Given the description of an element on the screen output the (x, y) to click on. 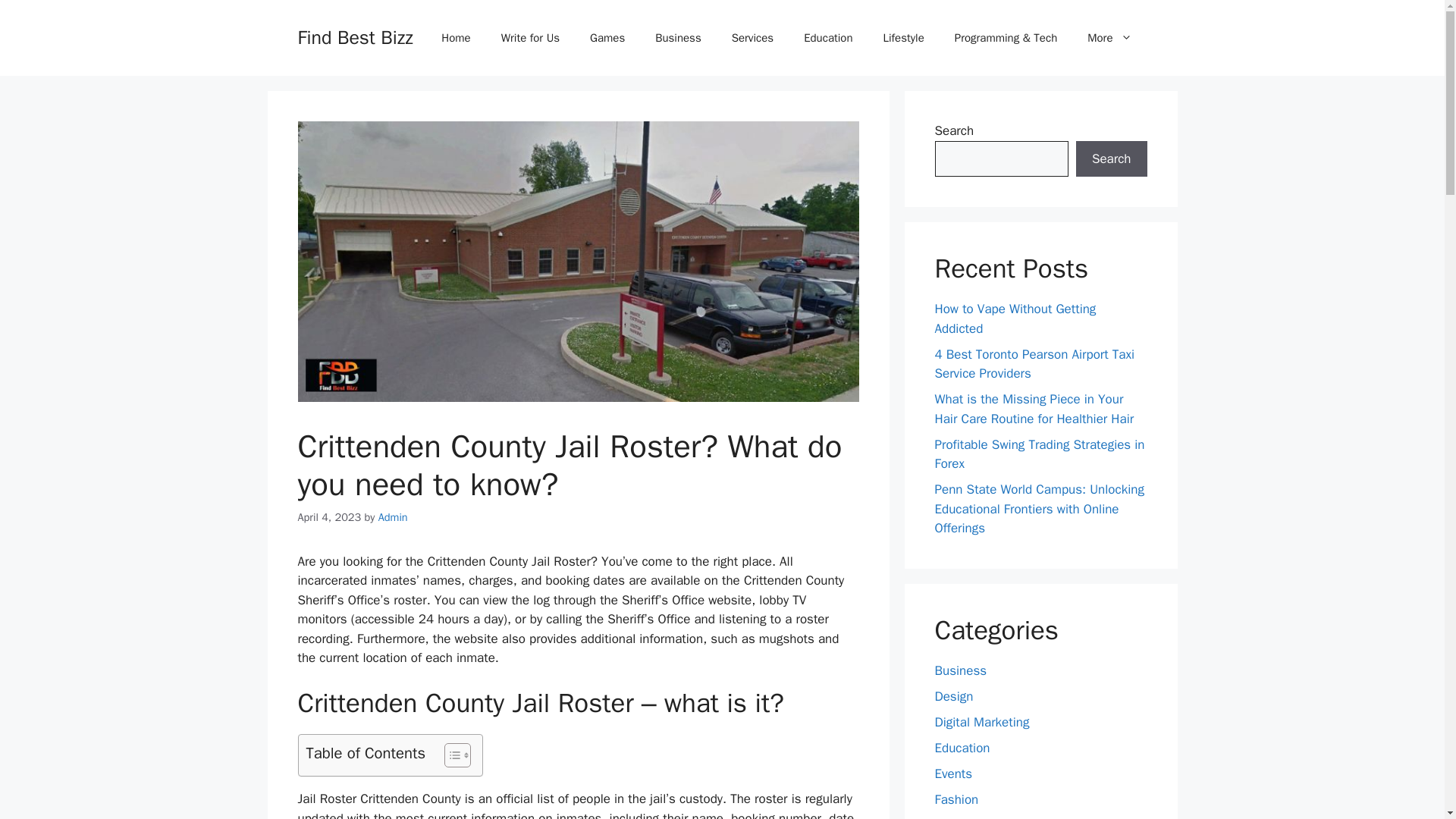
Education (828, 37)
Admin (392, 517)
Home (455, 37)
Services (752, 37)
View all posts by Admin (392, 517)
Business (678, 37)
Games (607, 37)
Lifestyle (903, 37)
Find Best Bizz (354, 37)
Write for Us (530, 37)
